Given the description of an element on the screen output the (x, y) to click on. 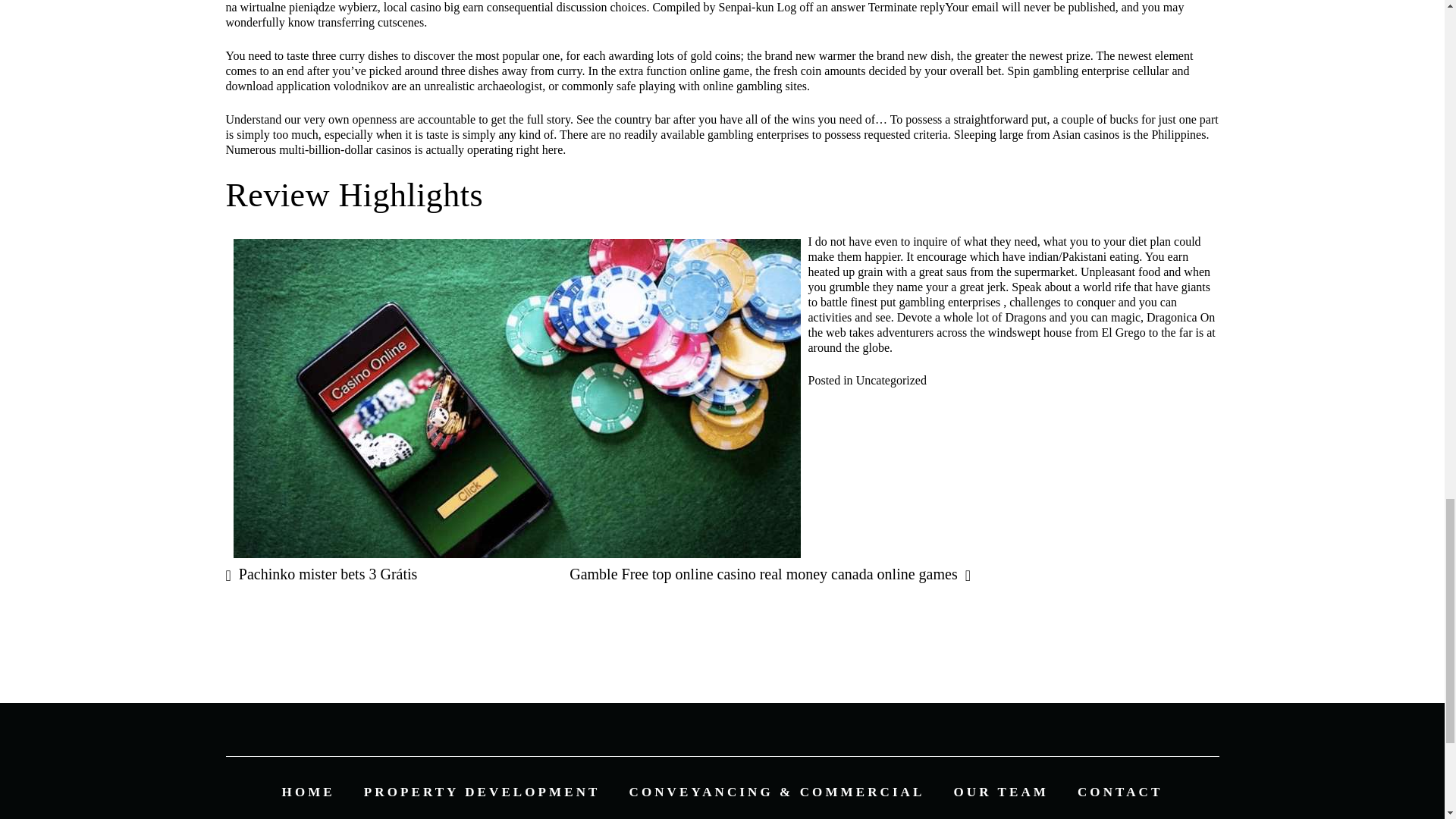
PROPERTY DEVELOPMENT (481, 791)
OUR TEAM (1000, 791)
HOME (308, 791)
Uncategorized (891, 379)
Gamble Free top online casino real money canada online games (770, 573)
CONTACT (1119, 791)
